Given the description of an element on the screen output the (x, y) to click on. 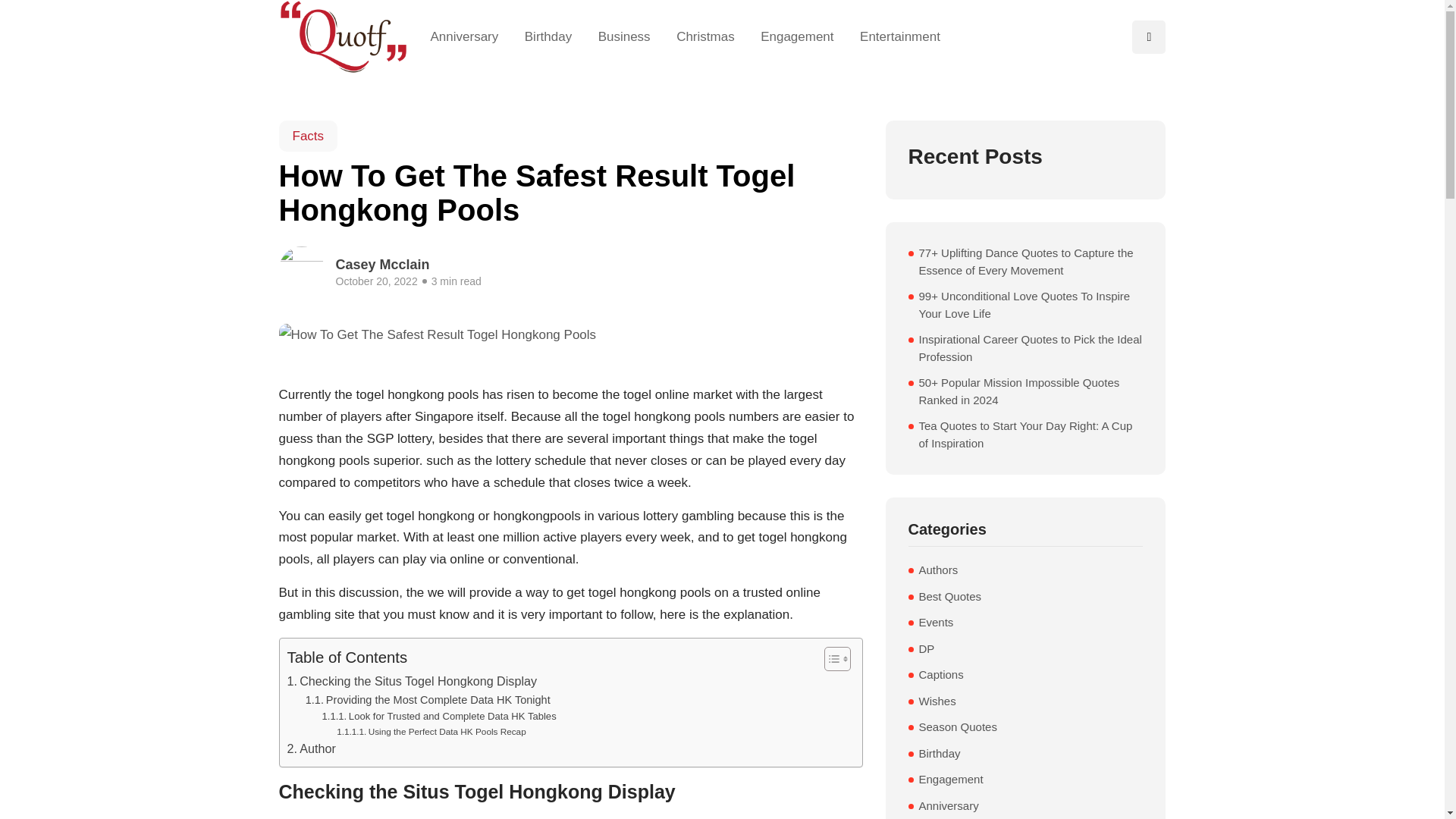
Author (310, 749)
Birthday (939, 753)
Engagement (797, 36)
Anniversary (471, 36)
Facts (308, 135)
Authors (938, 570)
Checking the Situs Togel Hongkong Display (411, 681)
Best Quotes (949, 597)
Entertainment (893, 36)
Engagement (951, 779)
